Given the description of an element on the screen output the (x, y) to click on. 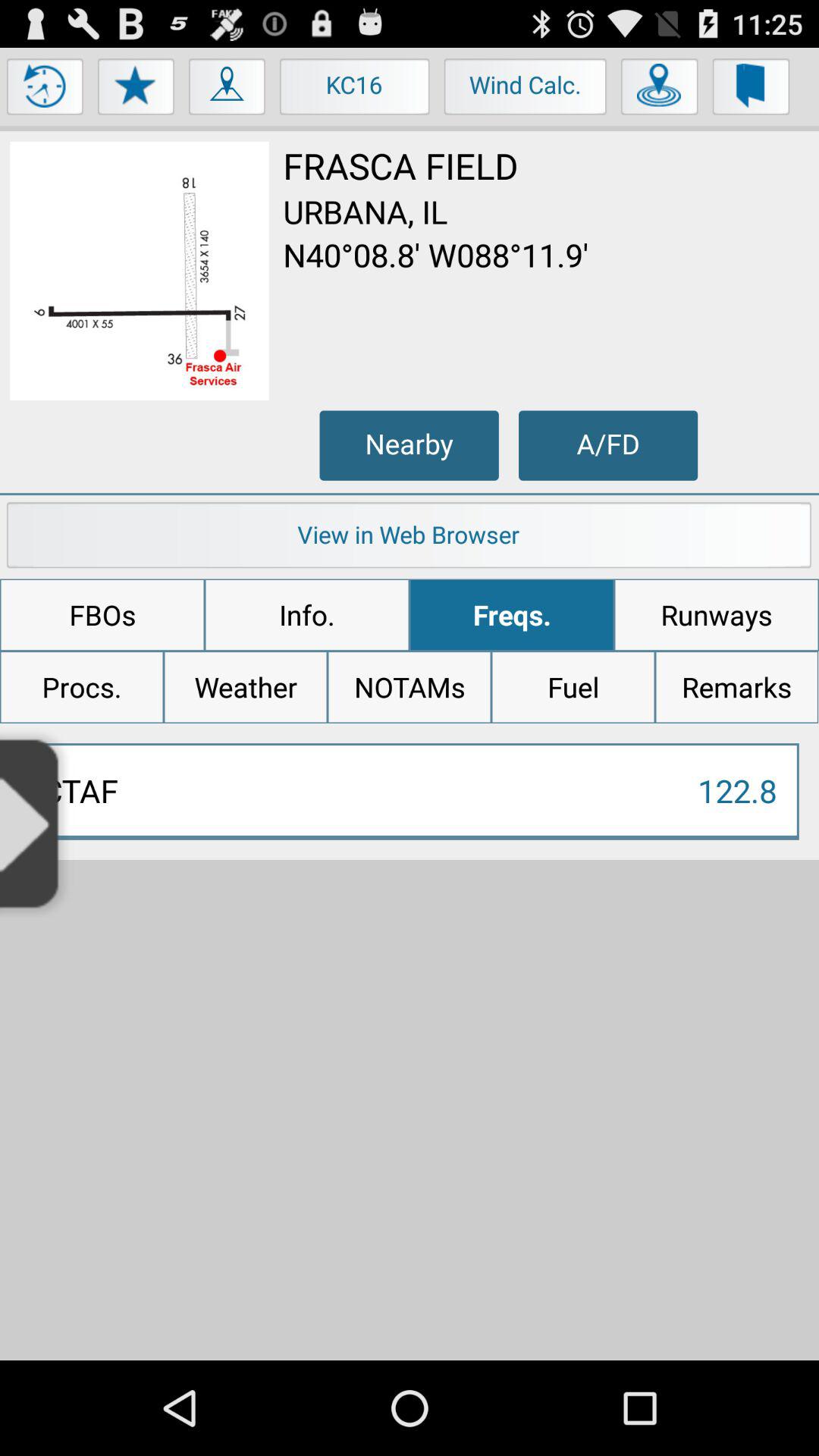
click icon to the left of the 122.8 (36, 822)
